Given the description of an element on the screen output the (x, y) to click on. 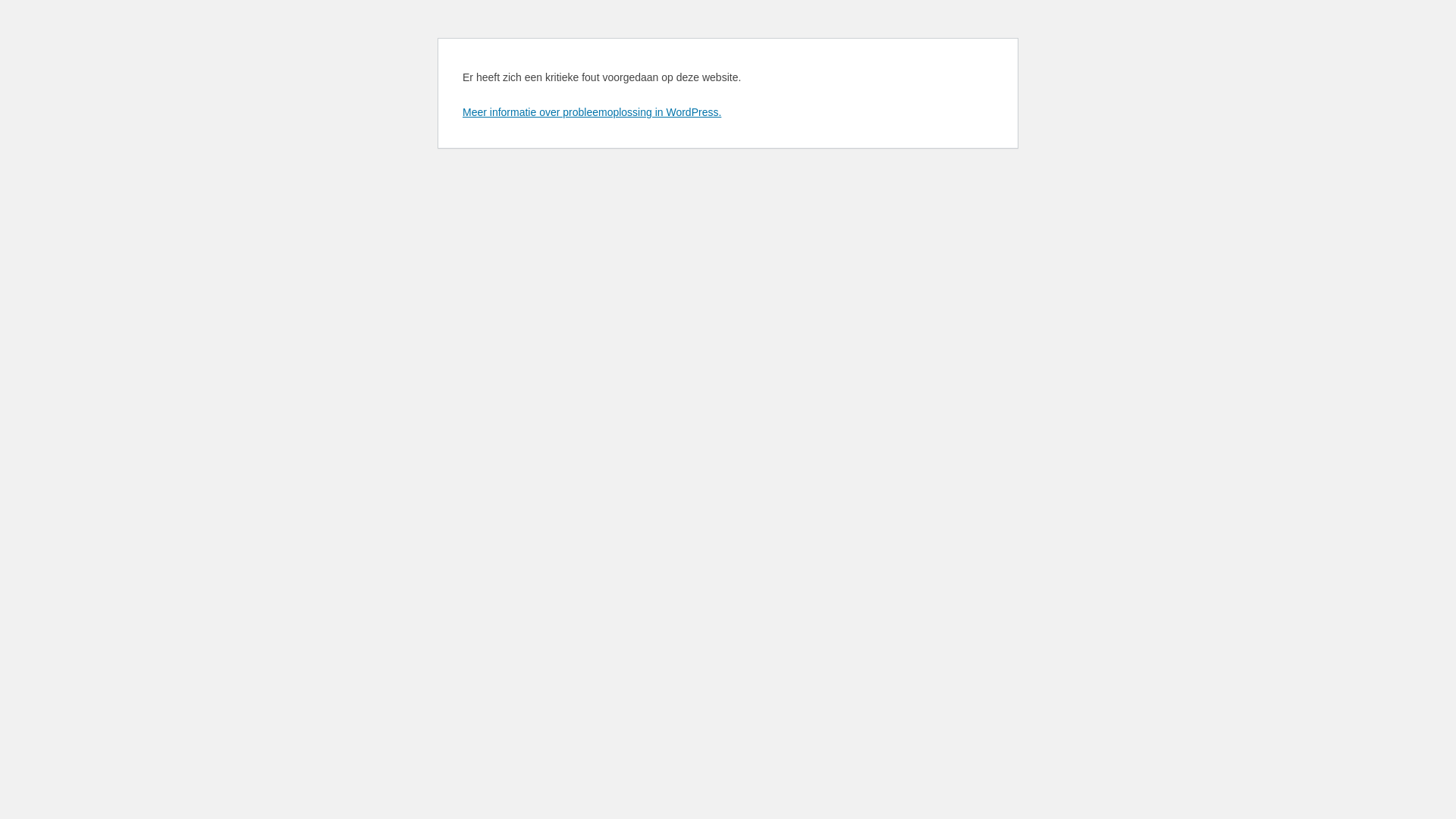
Meer informatie over probleemoplossing in WordPress. Element type: text (591, 112)
